Given the description of an element on the screen output the (x, y) to click on. 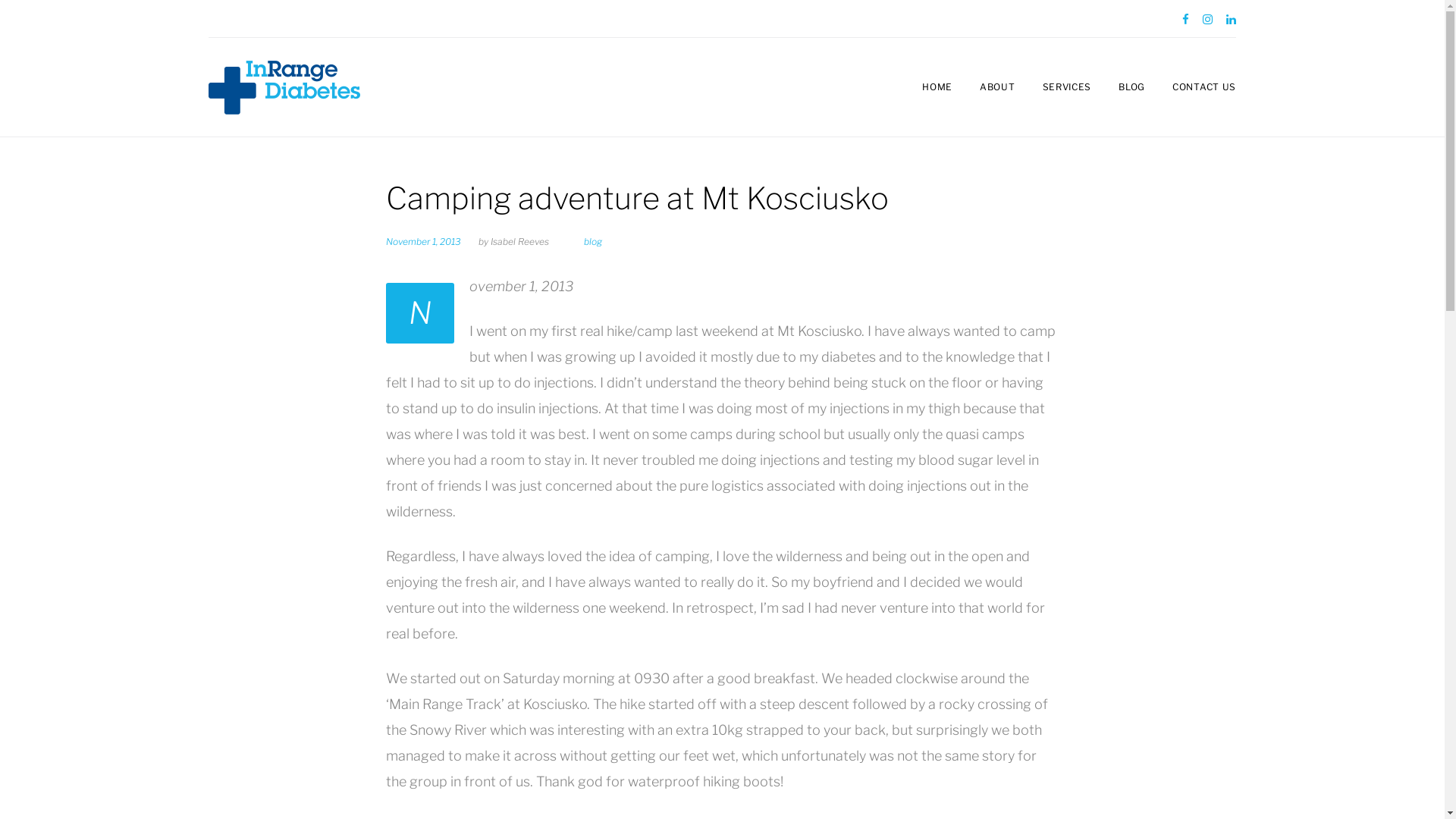
SERVICES Element type: text (1067, 87)
Isabel Reeves Element type: text (519, 241)
Facebook Element type: text (1185, 19)
ABOUT Element type: text (997, 87)
blog Element type: text (592, 241)
November 1, 2013 Element type: text (423, 241)
HOME Element type: text (937, 87)
Instagram Element type: text (1207, 19)
LinkedIn Element type: text (1231, 19)
CONTACT US Element type: text (1204, 87)
BLOG Element type: text (1131, 87)
